Given the description of an element on the screen output the (x, y) to click on. 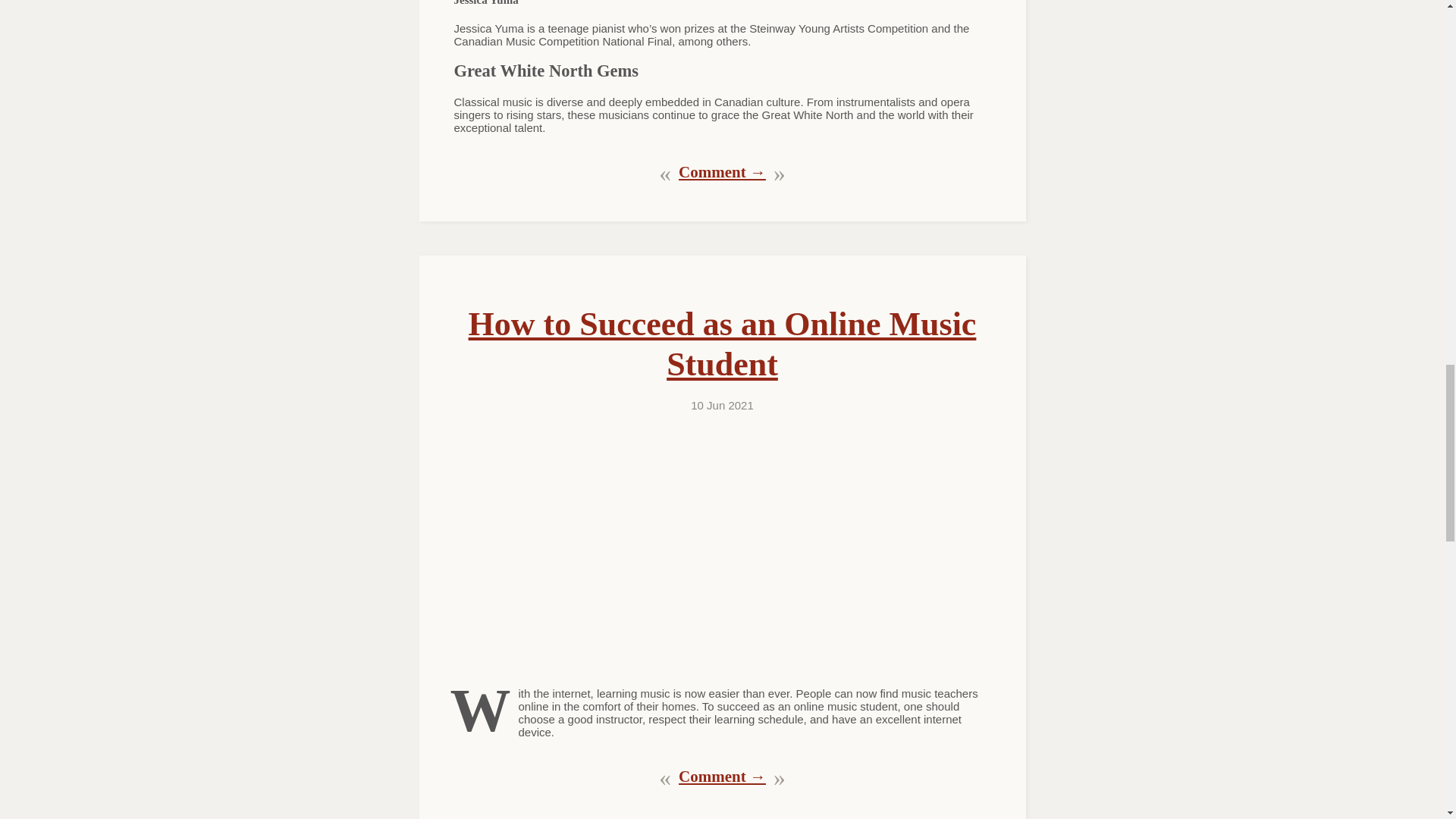
How to Succeed as an Online Music Student (722, 344)
